Given the description of an element on the screen output the (x, y) to click on. 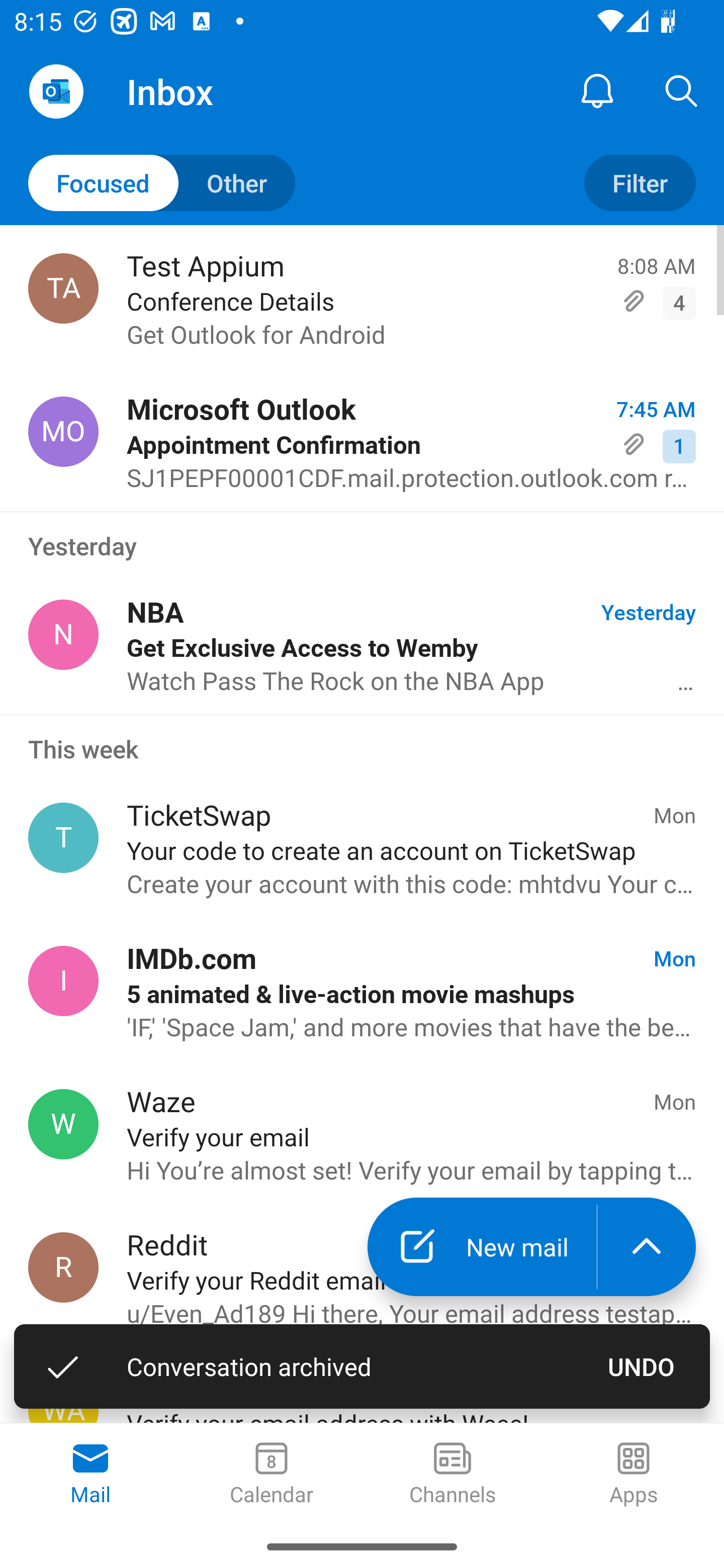
Notification Center (597, 90)
Search, ,  (681, 90)
Open Navigation Drawer (55, 91)
Toggle to other mails (161, 183)
Filter (639, 183)
Test Appium, testappium002@outlook.com (63, 288)
NBA, NBA@email.nba.com (63, 633)
TicketSwap, info@ticketswap.com (63, 837)
IMDb.com, do-not-reply@imdb.com (63, 980)
Waze, noreply@waze.com (63, 1123)
New mail (481, 1246)
launch the extended action menu (646, 1246)
Reddit, noreply@reddit.com (63, 1267)
UNDO (641, 1366)
Calendar (271, 1474)
Channels (452, 1474)
Apps (633, 1474)
